Given the description of an element on the screen output the (x, y) to click on. 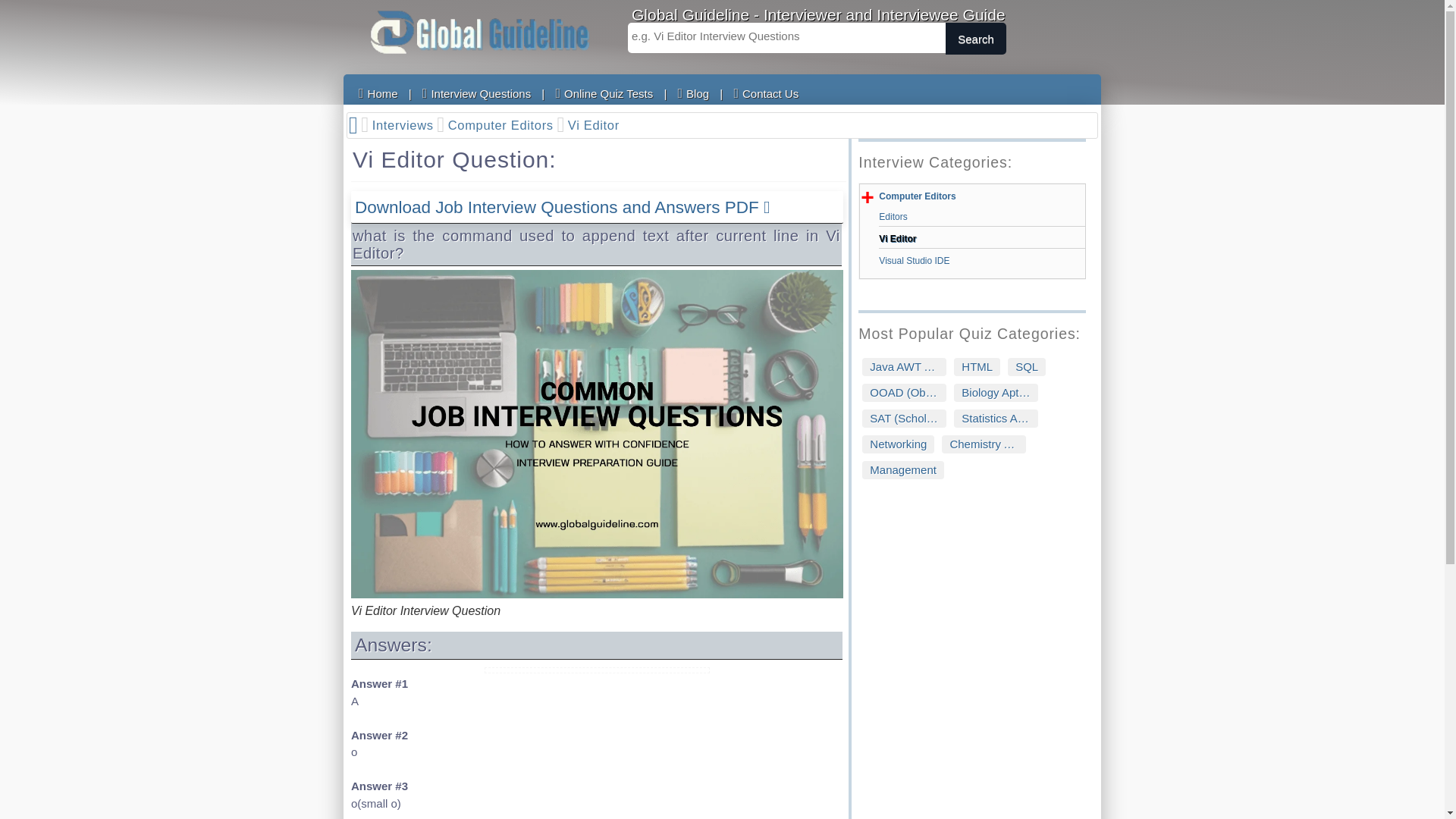
Global Guideline (479, 31)
Vi Editor (981, 238)
Computer Editors (506, 125)
Chemistry Aptitude Test (984, 443)
Networking Online Quiz Test (897, 443)
Contact Us (765, 92)
Biology Aptitude Test (995, 393)
Computer Editors (917, 195)
Home (378, 92)
Biology Aptitude Test Online Quiz Test (995, 393)
